Given the description of an element on the screen output the (x, y) to click on. 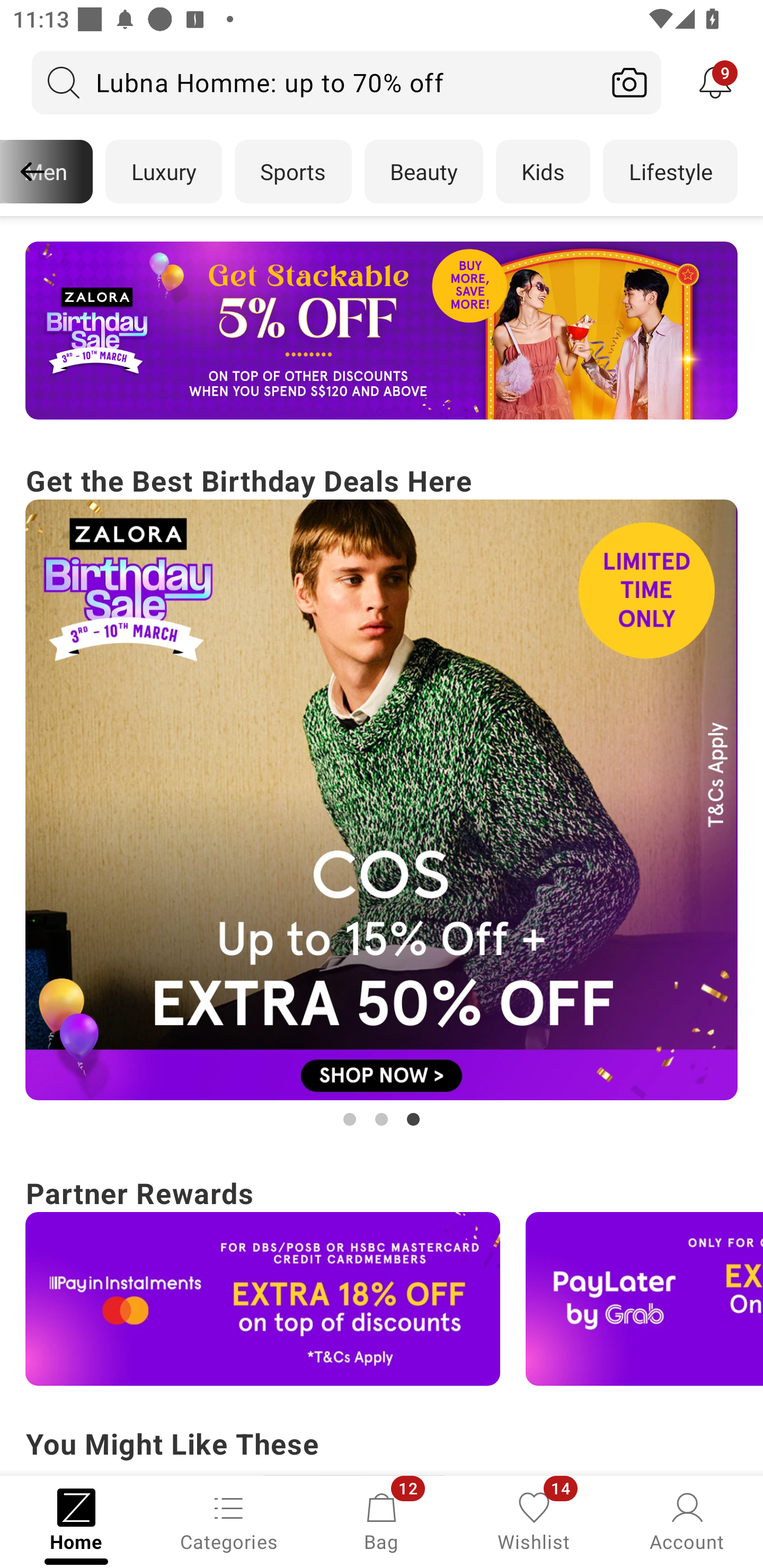
Lubna Homme: up to 70% off (314, 82)
Men (46, 171)
Luxury (163, 171)
Sports (293, 171)
Beauty (423, 171)
Kids (542, 171)
Lifestyle (669, 171)
Campaign banner (381, 330)
Get the Best Birthday Deals Here Campaign banner (381, 794)
Campaign banner (381, 800)
Partner Rewards Campaign banner Campaign banner (381, 1277)
Campaign banner (262, 1299)
Campaign banner (644, 1299)
Categories (228, 1519)
Bag, 12 new notifications Bag (381, 1519)
Wishlist, 14 new notifications Wishlist (533, 1519)
Account (686, 1519)
